Given the description of an element on the screen output the (x, y) to click on. 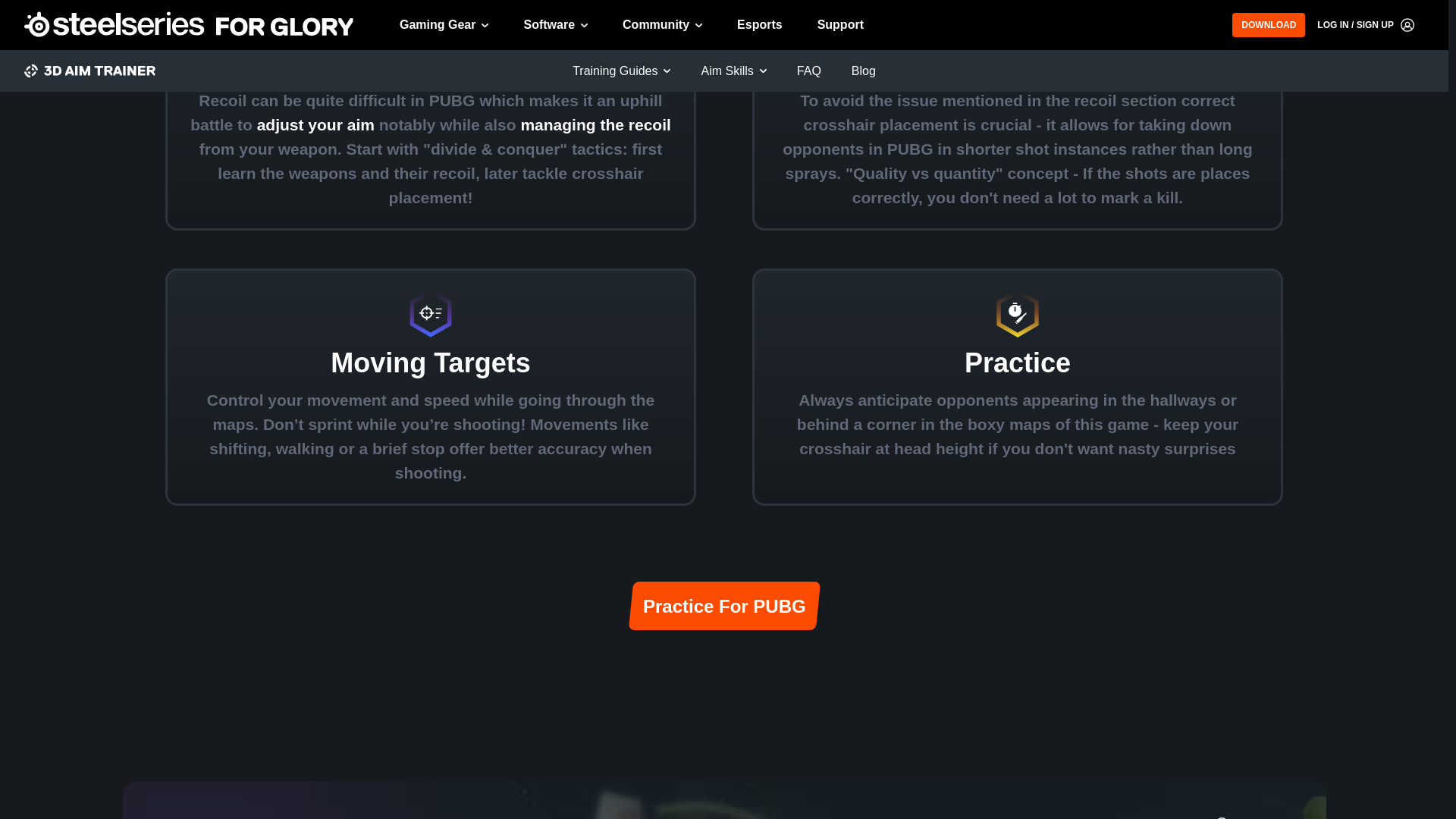
Practice For PUBG (721, 605)
